Given the description of an element on the screen output the (x, y) to click on. 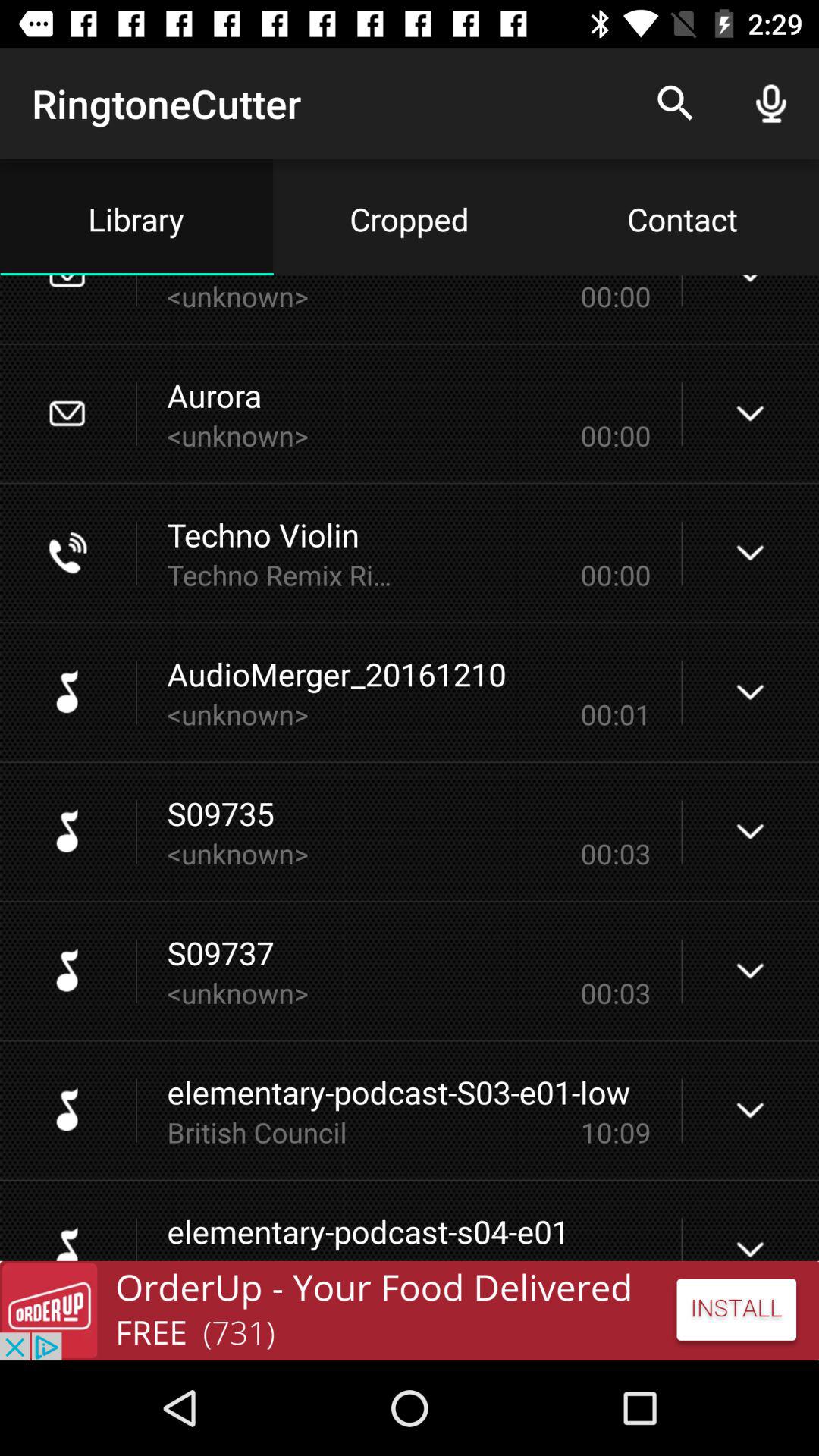
add the picture (409, 1310)
